Given the description of an element on the screen output the (x, y) to click on. 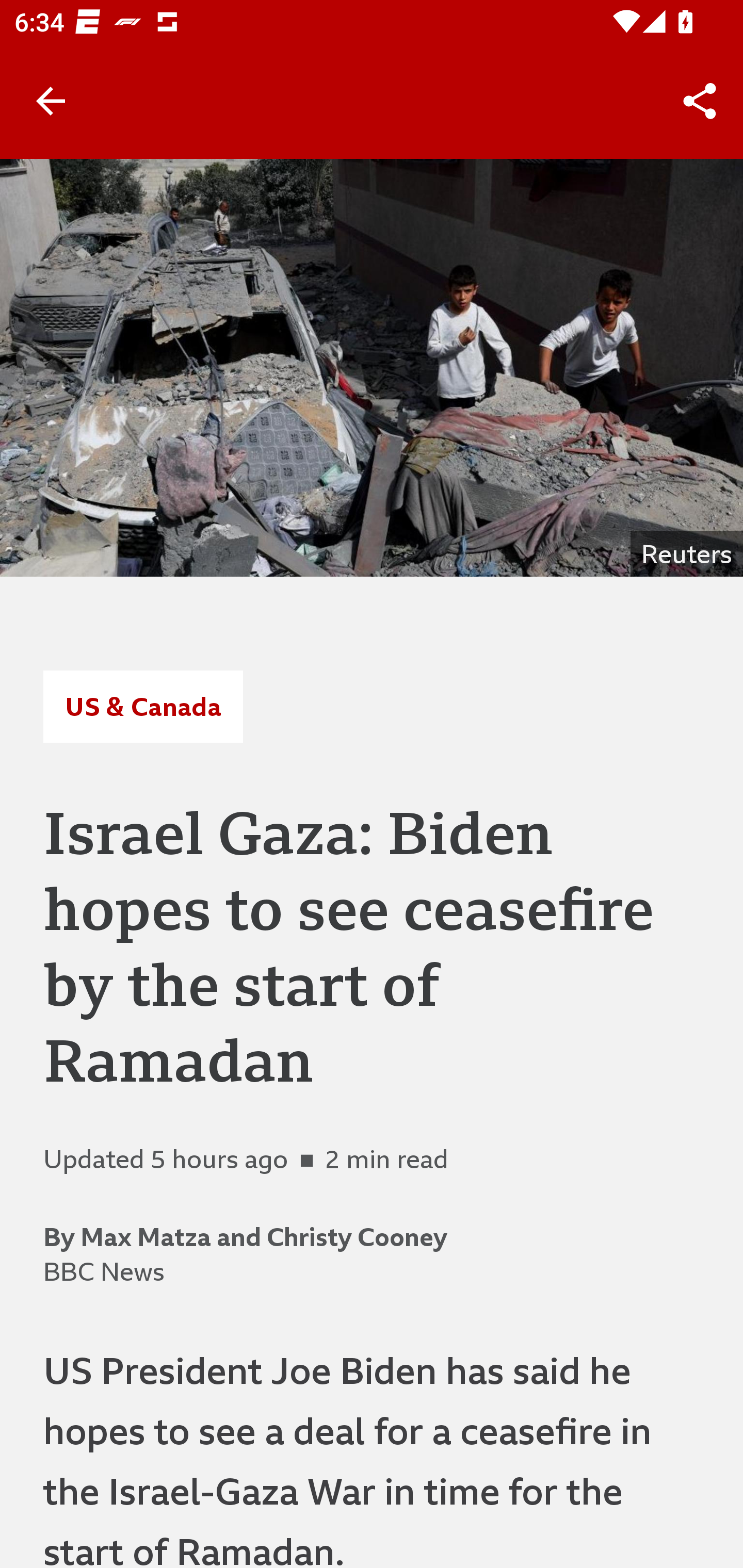
Back (50, 101)
Share (699, 101)
US & Canada (142, 706)
